Given the description of an element on the screen output the (x, y) to click on. 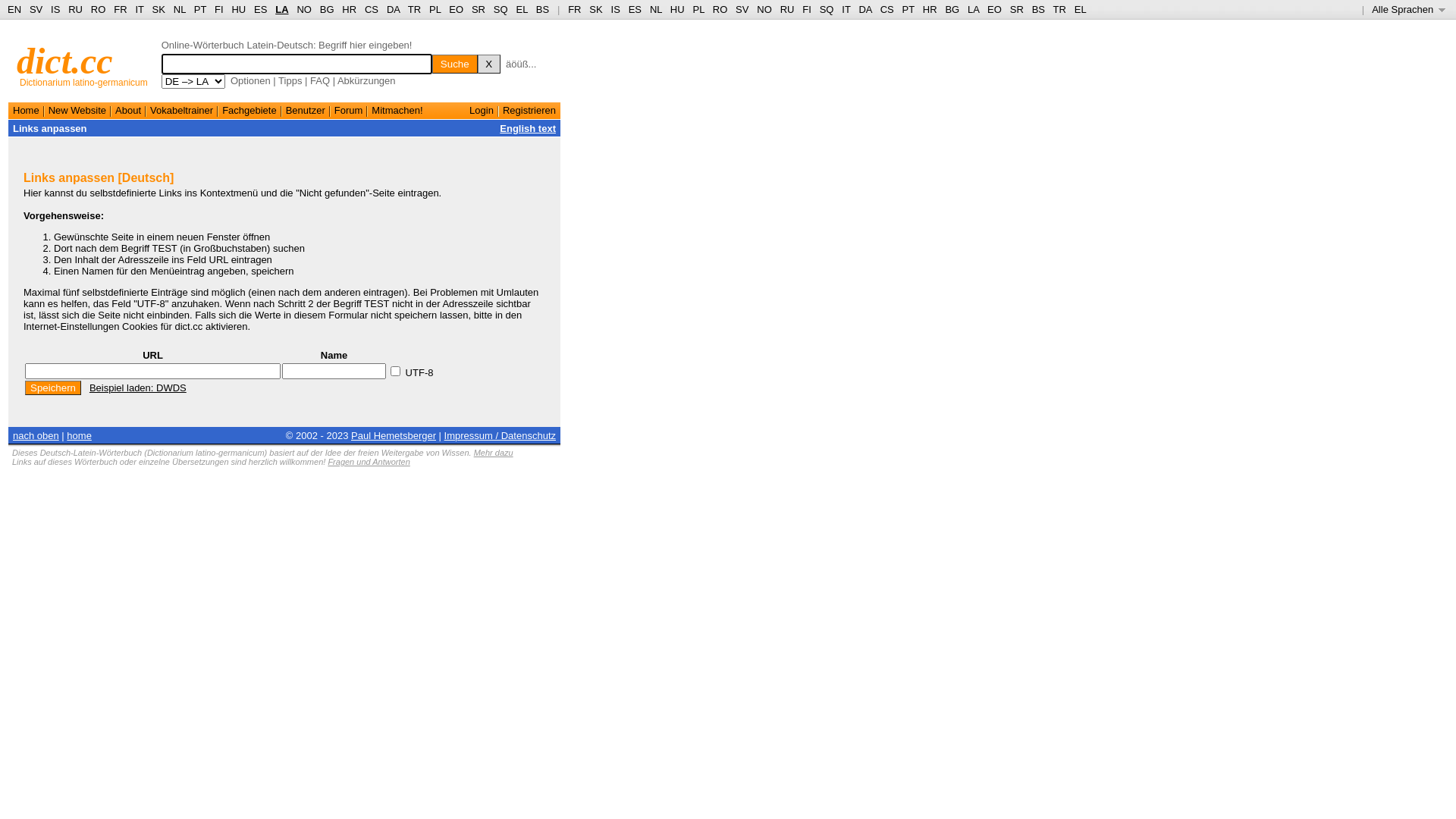
Beispiel laden: DWDS Element type: text (137, 387)
FAQ Element type: text (319, 80)
CS Element type: text (887, 9)
DA Element type: text (864, 9)
Vokabeltrainer Element type: text (181, 110)
PT Element type: text (908, 9)
DA Element type: text (392, 9)
HR Element type: text (929, 9)
Registrieren Element type: text (528, 110)
X Element type: text (488, 63)
RO Element type: text (720, 9)
SQ Element type: text (500, 9)
Home Element type: text (25, 110)
FR Element type: text (119, 9)
Paul Hemetsberger Element type: text (393, 434)
English text Element type: text (527, 128)
BS Element type: text (1038, 9)
SK Element type: text (595, 9)
Login Element type: text (481, 110)
NO Element type: text (303, 9)
RU Element type: text (75, 9)
EN Element type: text (14, 9)
nach oben Element type: text (35, 434)
IT Element type: text (138, 9)
TR Element type: text (413, 9)
SR Element type: text (1016, 9)
PL Element type: text (697, 9)
Mehr dazu Element type: text (493, 452)
IT Element type: text (845, 9)
home Element type: text (78, 434)
SV Element type: text (741, 9)
RU Element type: text (787, 9)
Suche Element type: text (454, 63)
IS Element type: text (54, 9)
Mitmachen! Element type: text (396, 110)
Alle Sprachen  Element type: text (1408, 9)
EL Element type: text (1080, 9)
BG Element type: text (327, 9)
Optionen Element type: text (250, 80)
HR Element type: text (349, 9)
Impressum / Datenschutz Element type: text (499, 434)
EO Element type: text (455, 9)
SV Element type: text (35, 9)
CS Element type: text (371, 9)
Tipps Element type: text (289, 80)
ES Element type: text (260, 9)
EL Element type: text (521, 9)
ES Element type: text (634, 9)
dict.cc Element type: text (64, 60)
FR Element type: text (573, 9)
Forum Element type: text (348, 110)
New Website Element type: text (77, 110)
About Element type: text (128, 110)
HU Element type: text (677, 9)
FI Element type: text (218, 9)
PT Element type: text (200, 9)
Speichern Element type: text (53, 387)
TR Element type: text (1059, 9)
SK Element type: text (158, 9)
LA Element type: text (281, 9)
HU Element type: text (238, 9)
Benutzer Element type: text (305, 110)
EO Element type: text (994, 9)
PL Element type: text (434, 9)
NO Element type: text (763, 9)
BS Element type: text (542, 9)
NL Element type: text (655, 9)
SQ Element type: text (826, 9)
LA Element type: text (973, 9)
FI Element type: text (806, 9)
NL Element type: text (179, 9)
Fachgebiete Element type: text (249, 110)
BG Element type: text (951, 9)
RO Element type: text (98, 9)
SR Element type: text (478, 9)
Fragen und Antworten Element type: text (368, 461)
IS Element type: text (615, 9)
